Given the description of an element on the screen output the (x, y) to click on. 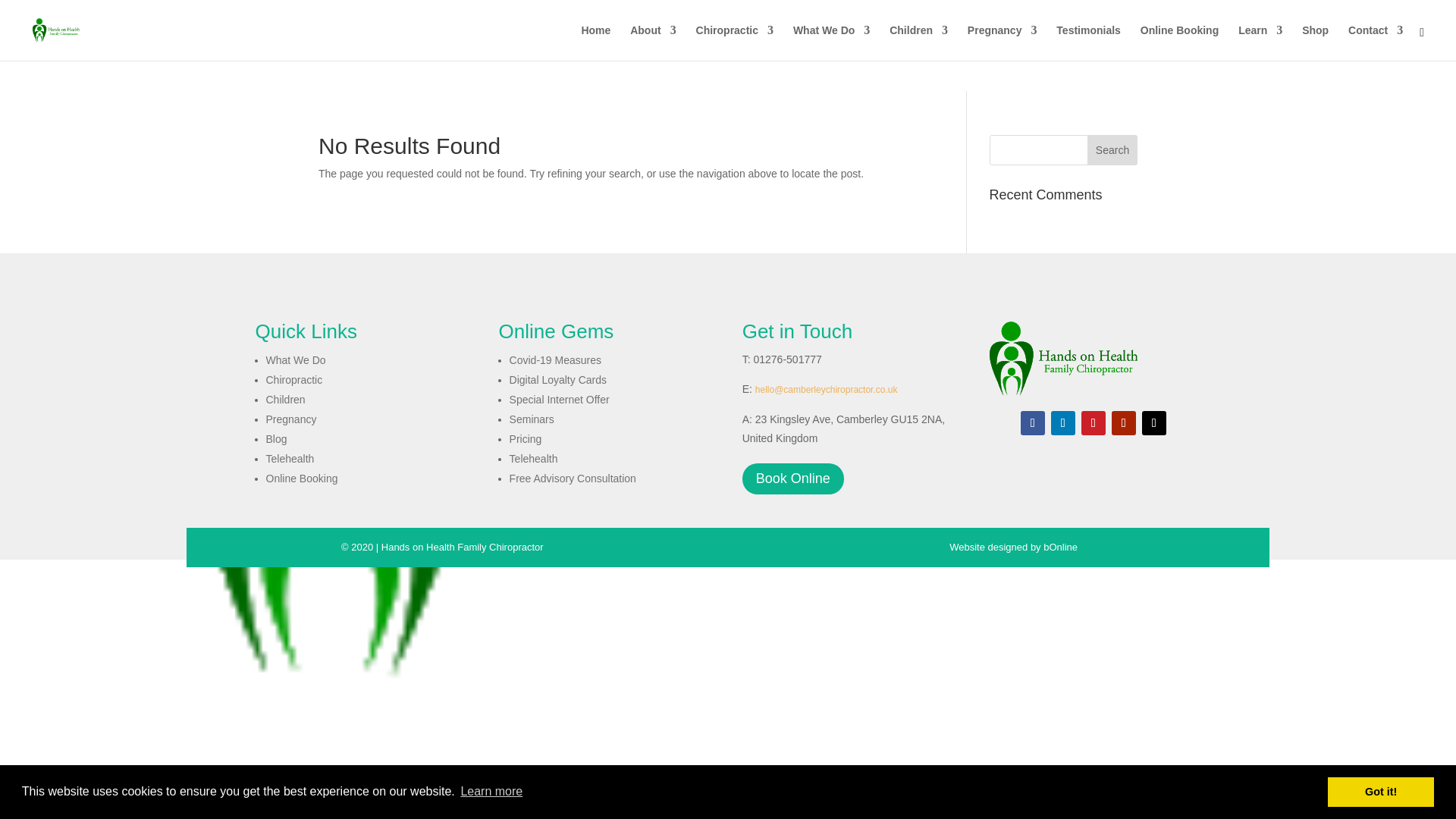
Pregnancy (1002, 42)
Follow on Youtube (1123, 422)
Follow on Pinterest (1093, 422)
Follow on X (1153, 422)
About (652, 42)
Follow on LinkedIn (1063, 422)
Chiropractic (734, 42)
handsonhealth (1061, 358)
Children (918, 42)
Search (1112, 150)
What We Do (831, 42)
Follow on Facebook (1032, 422)
